Given the description of an element on the screen output the (x, y) to click on. 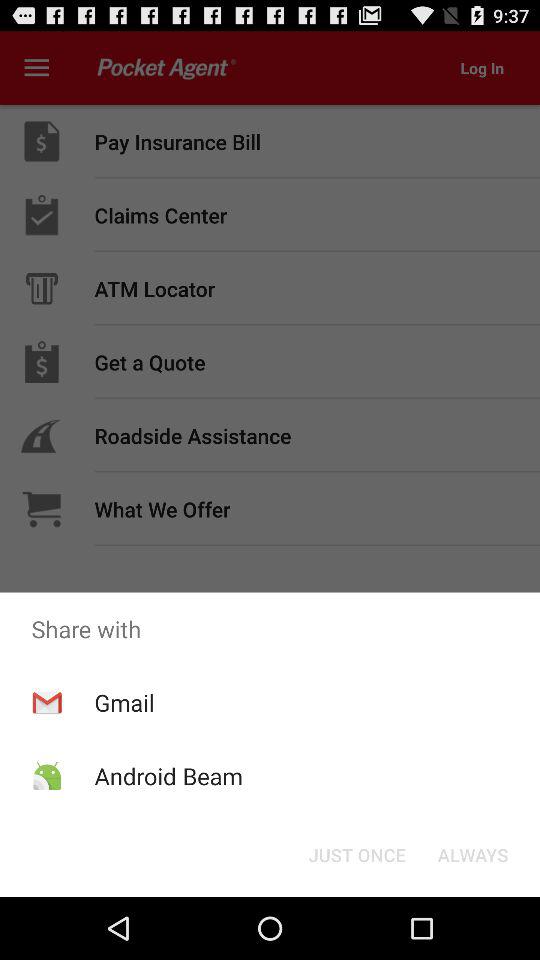
turn on the android beam icon (168, 775)
